Given the description of an element on the screen output the (x, y) to click on. 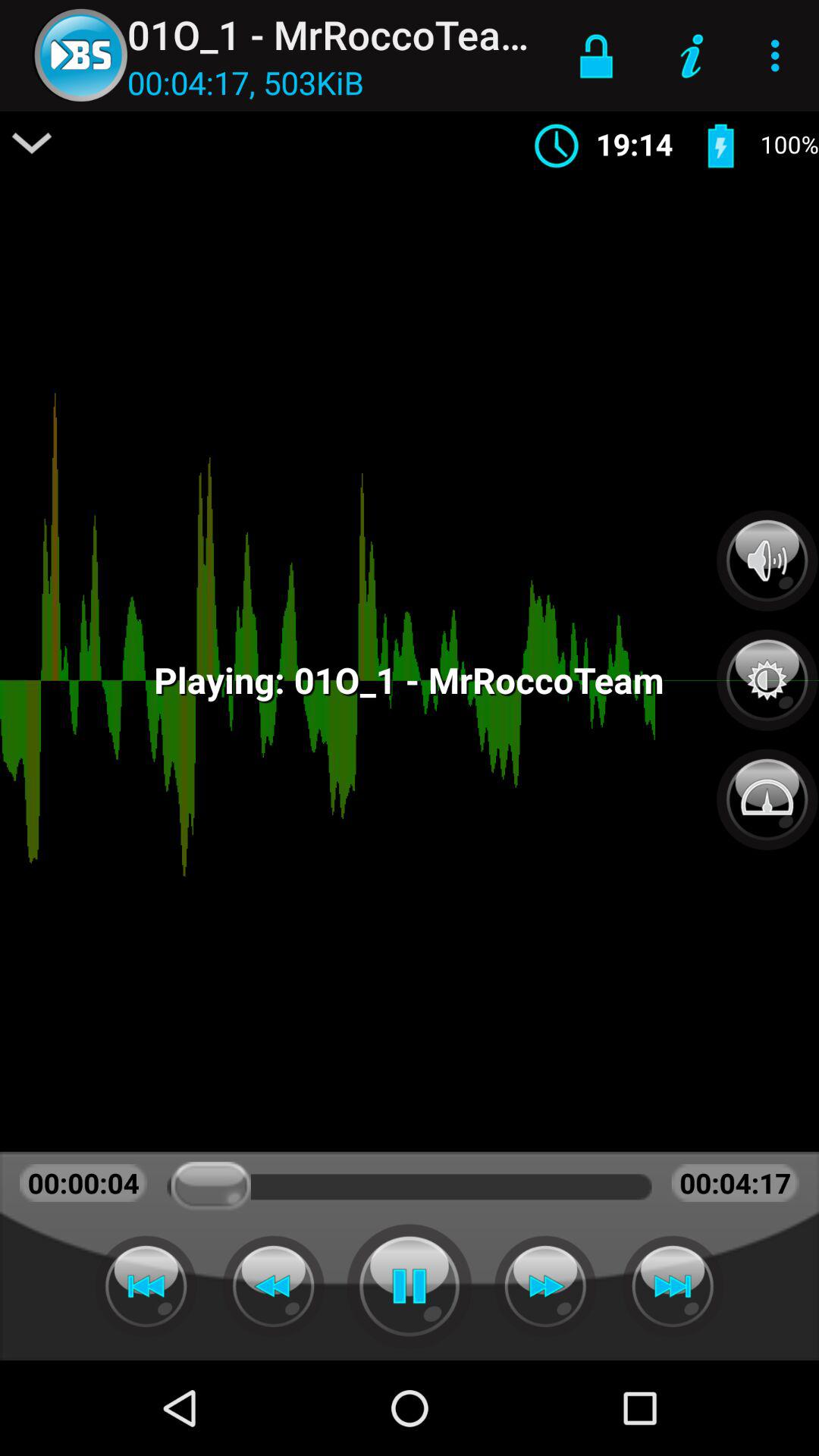
speaker button (767, 560)
